Given the description of an element on the screen output the (x, y) to click on. 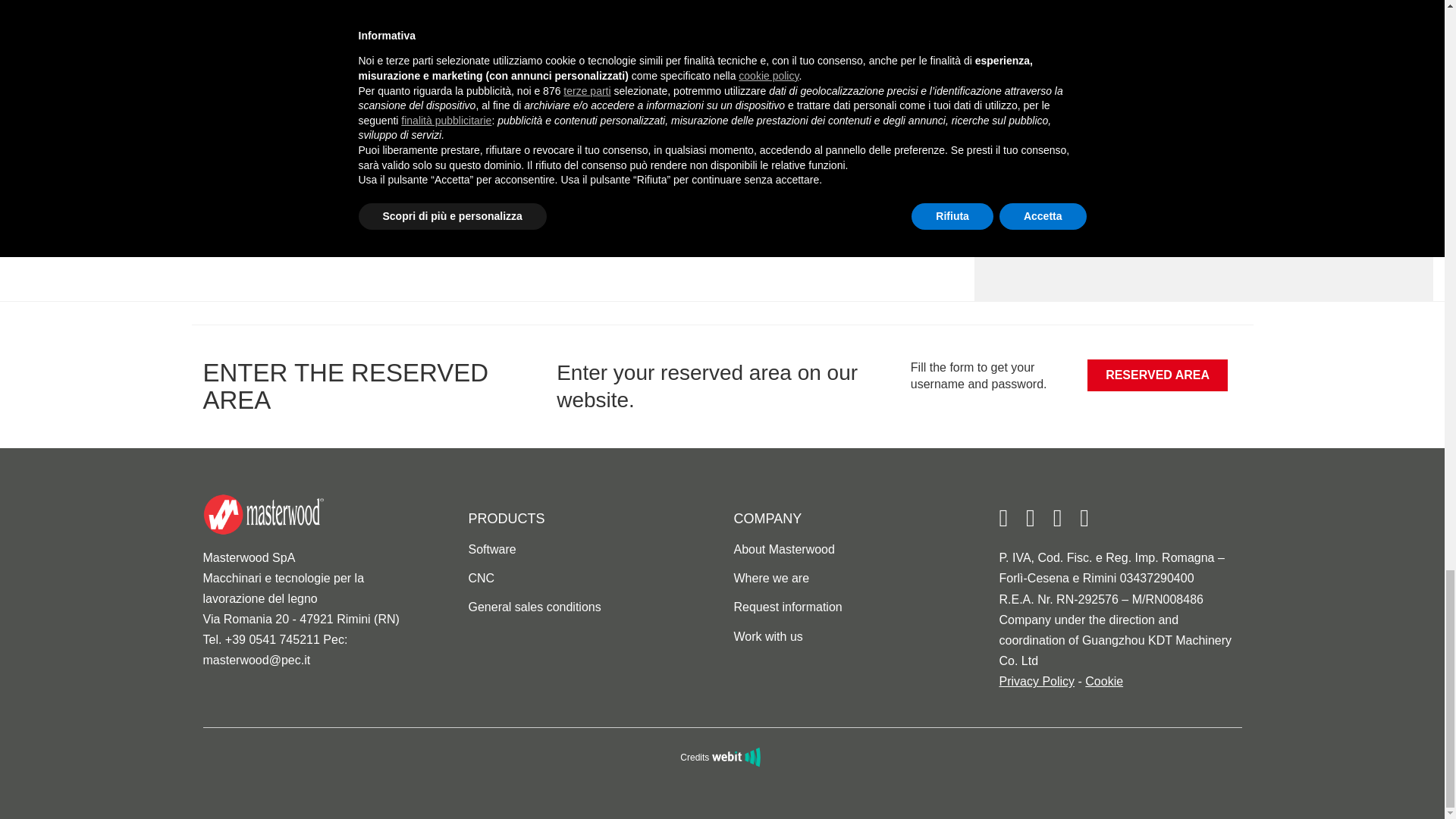
Web Agency webit.it (737, 757)
Cookie (1103, 680)
Privacy Policy (1036, 680)
